Given the description of an element on the screen output the (x, y) to click on. 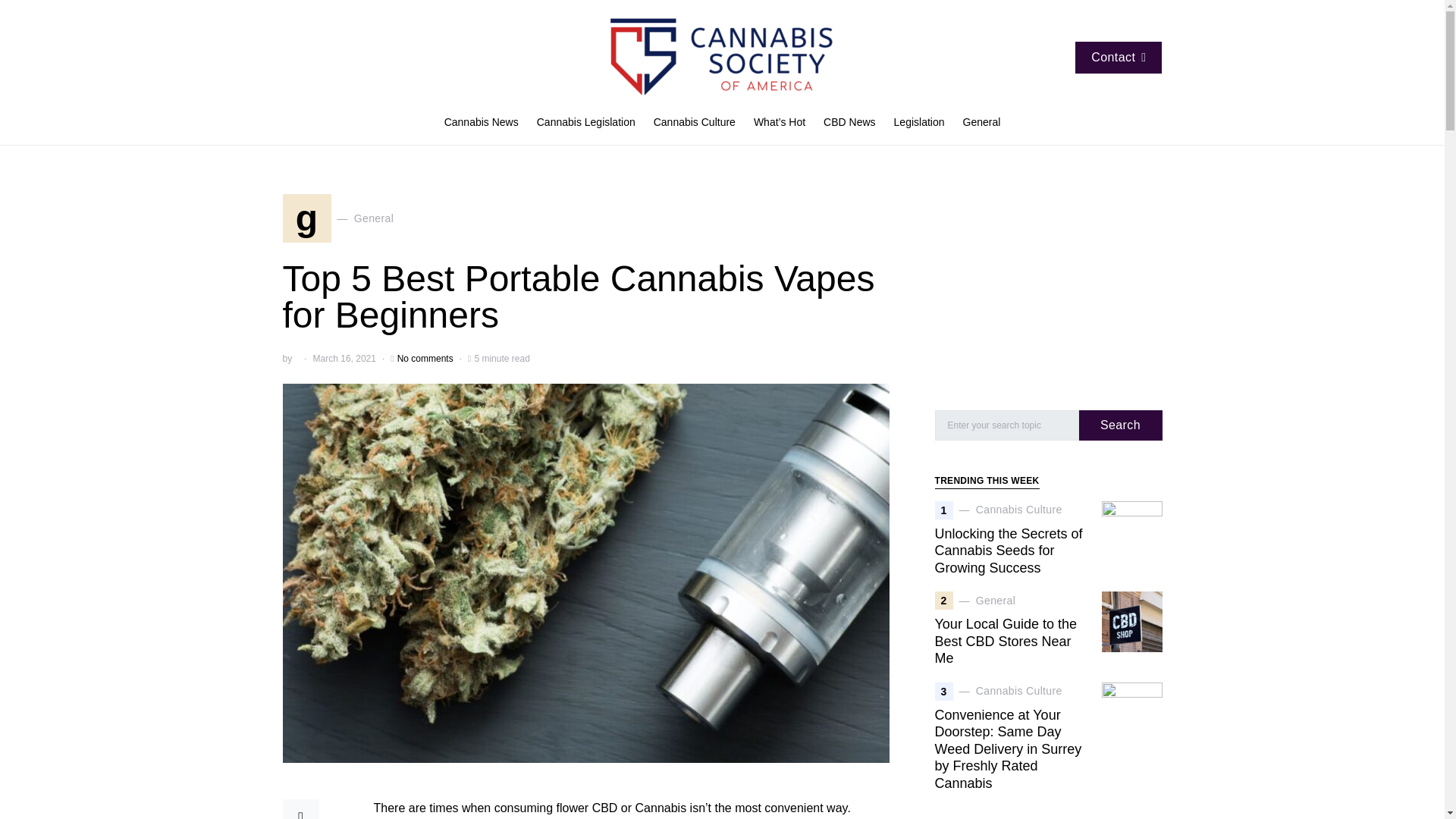
No comments (424, 358)
Cannabis News (337, 218)
Cannabis Culture (485, 122)
CBD News (694, 122)
Cannabis Legislation (848, 122)
General (586, 122)
Legislation (977, 122)
Contact (919, 122)
